Given the description of an element on the screen output the (x, y) to click on. 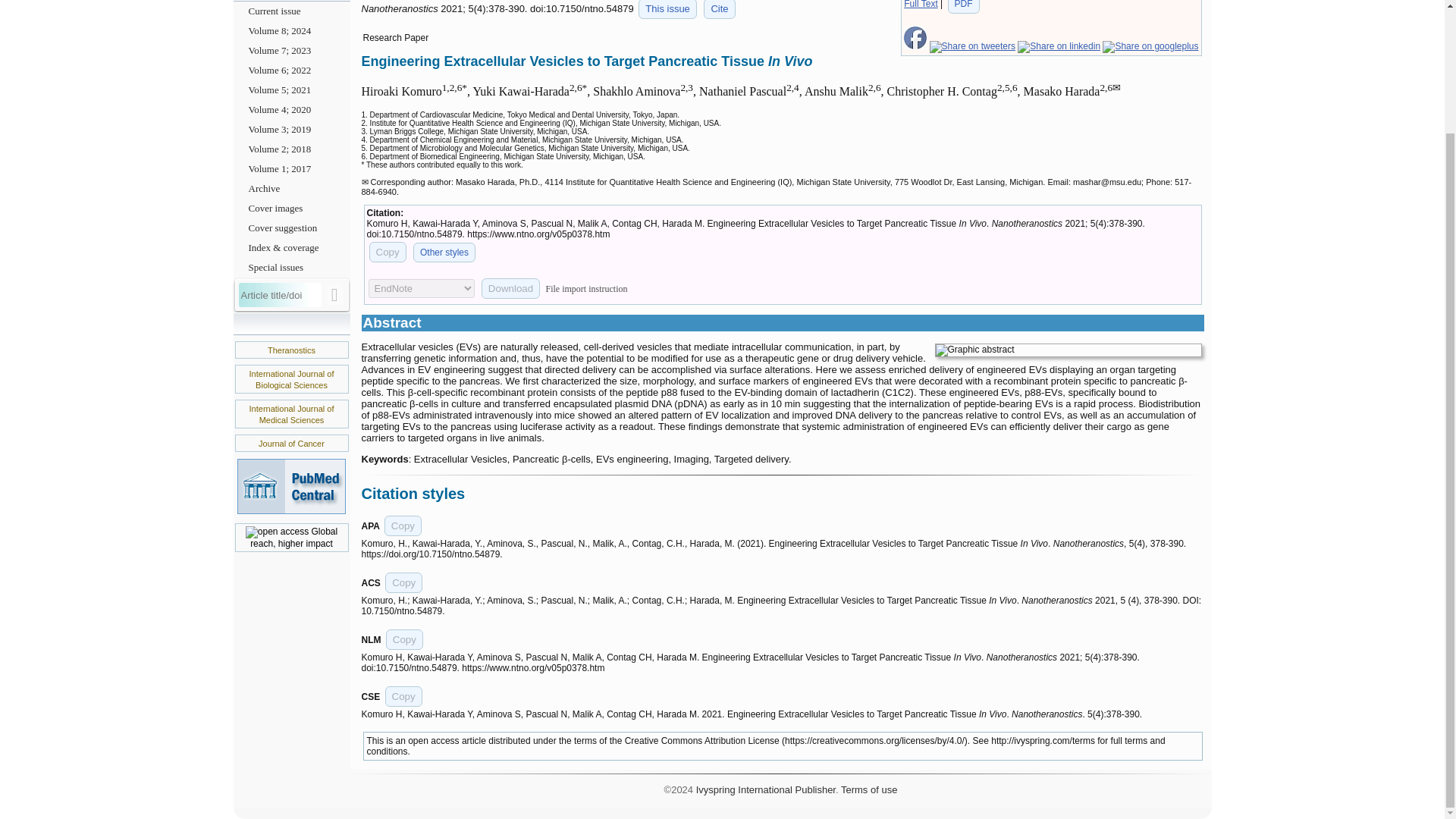
Copy to clipboard (403, 525)
Full Text (920, 4)
Current issue (291, 11)
Share on linkedin (1058, 45)
Share on googleplus (1150, 45)
Copy to clipboard (404, 639)
PDF (963, 6)
Copy (387, 251)
Volume 8; 2024 (291, 30)
This issue (668, 9)
Issue 4 listing (668, 9)
Theranostics (291, 349)
Search article by title or doi (334, 294)
Volume 6; 2022 (291, 70)
Share on facebook (915, 45)
